Given the description of an element on the screen output the (x, y) to click on. 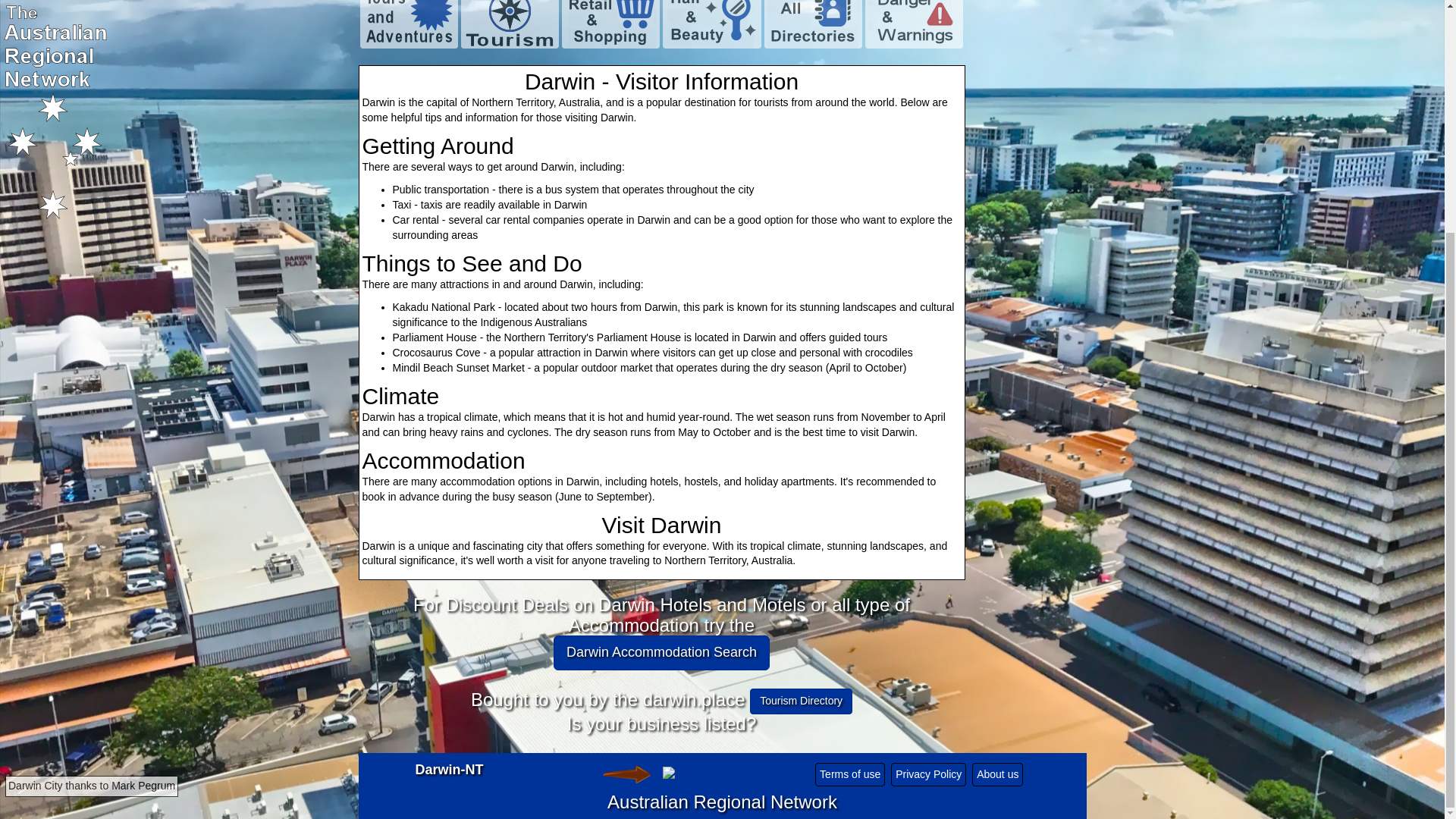
Please like our Page (625, 773)
